Given the description of an element on the screen output the (x, y) to click on. 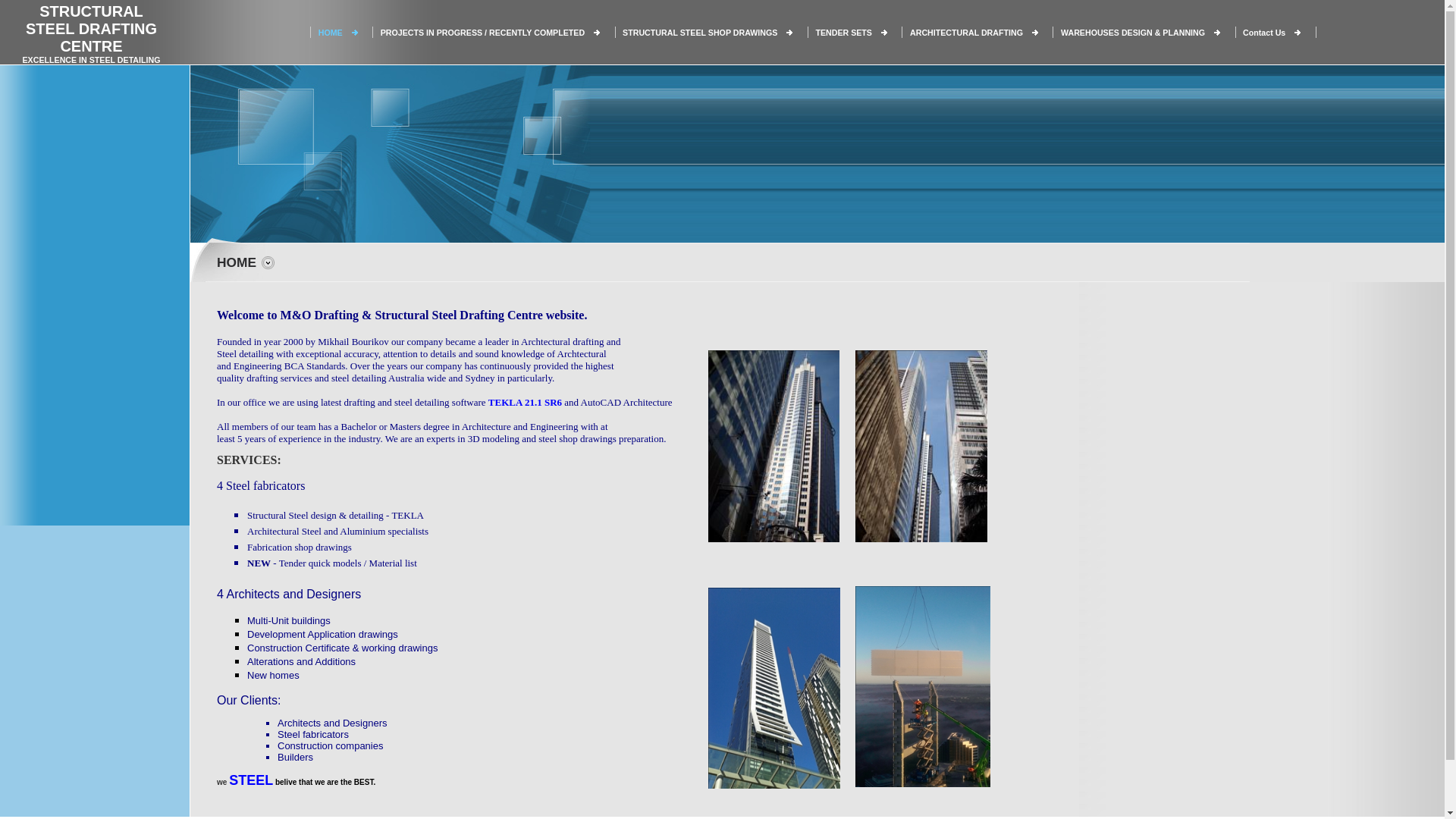
STRUCTURAL STEEL SHOP DRAWINGS Element type: text (699, 31)
WAREHOUSES DESIGN & PLANNING Element type: text (1132, 31)
ARCHITECTURAL DRAFTING Element type: text (966, 31)
PROJECTS IN PROGRESS / RECENTLY COMPLETED Element type: text (482, 31)
Contact Us Element type: text (1263, 31)
TENDER SETS Element type: text (843, 31)
